Given the description of an element on the screen output the (x, y) to click on. 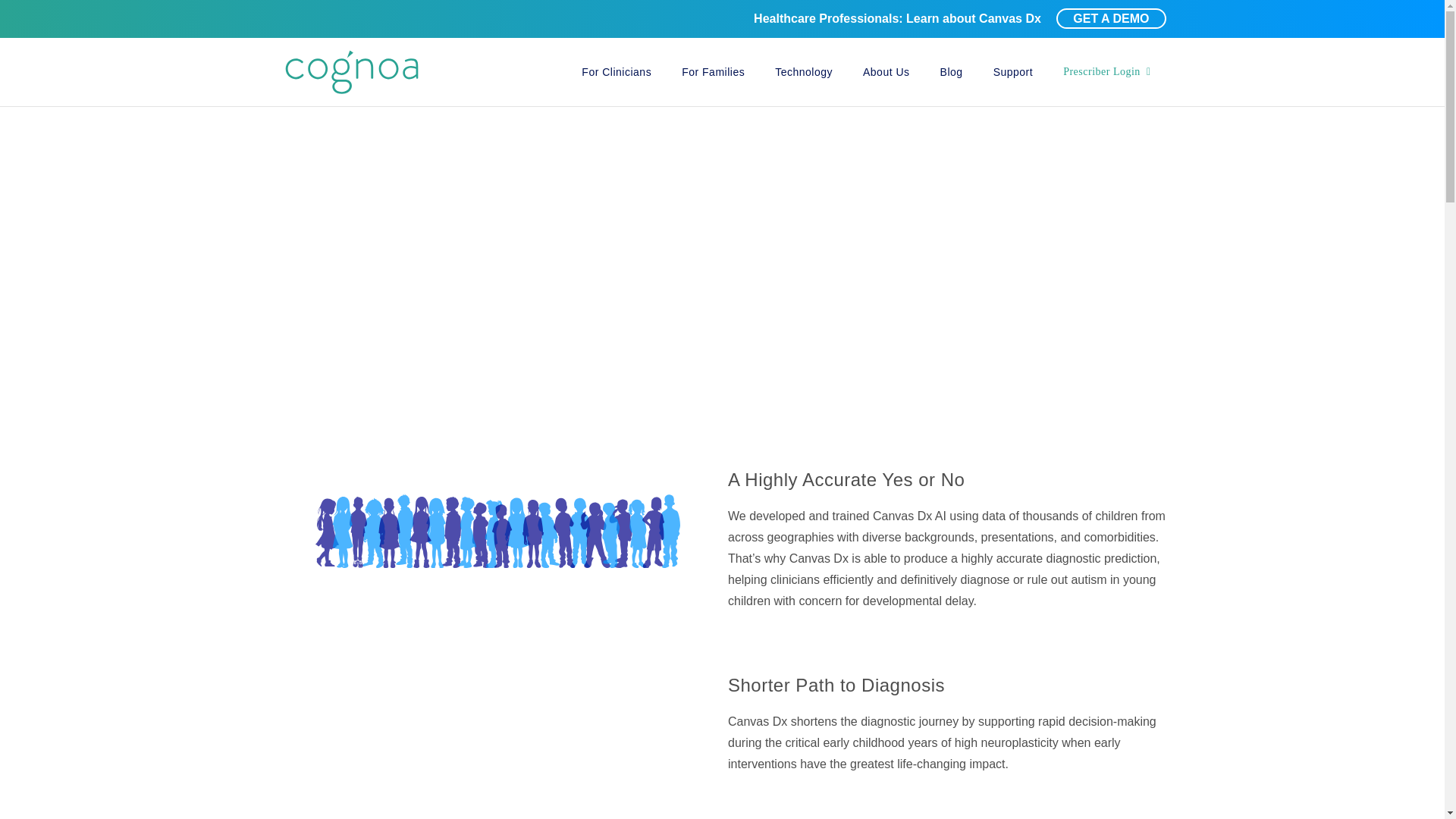
kidsgroup (498, 530)
Go (1147, 18)
GET A DEMO (1111, 18)
Prescriber Login   (1107, 71)
For Clinicians (616, 71)
Support (1013, 71)
For Families (713, 71)
Cognoa (352, 71)
Technology (803, 71)
About Us (885, 71)
